Given the description of an element on the screen output the (x, y) to click on. 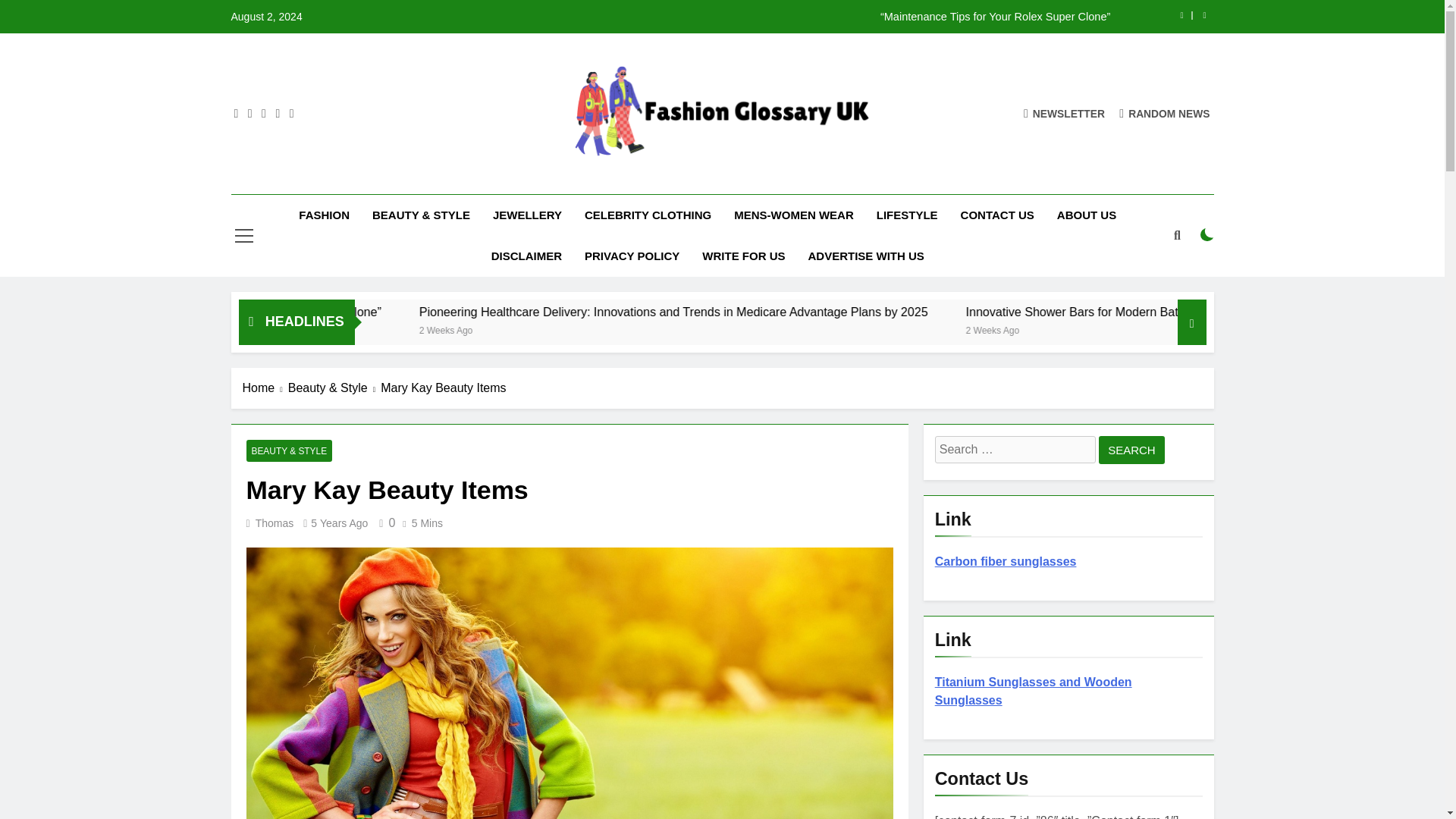
Search (1131, 449)
FASHION (323, 214)
2 Weeks Ago (332, 328)
JEWELLERY (527, 214)
LIFESTYLE (906, 214)
CONTACT US (997, 214)
NEWSLETTER (1064, 113)
ABOUT US (1085, 214)
WRITE FOR US (743, 255)
Fashion Glossary UK (636, 180)
RANDOM NEWS (1164, 113)
ADVERTISE WITH US (865, 255)
MENS-WOMEN WEAR (793, 214)
